Given the description of an element on the screen output the (x, y) to click on. 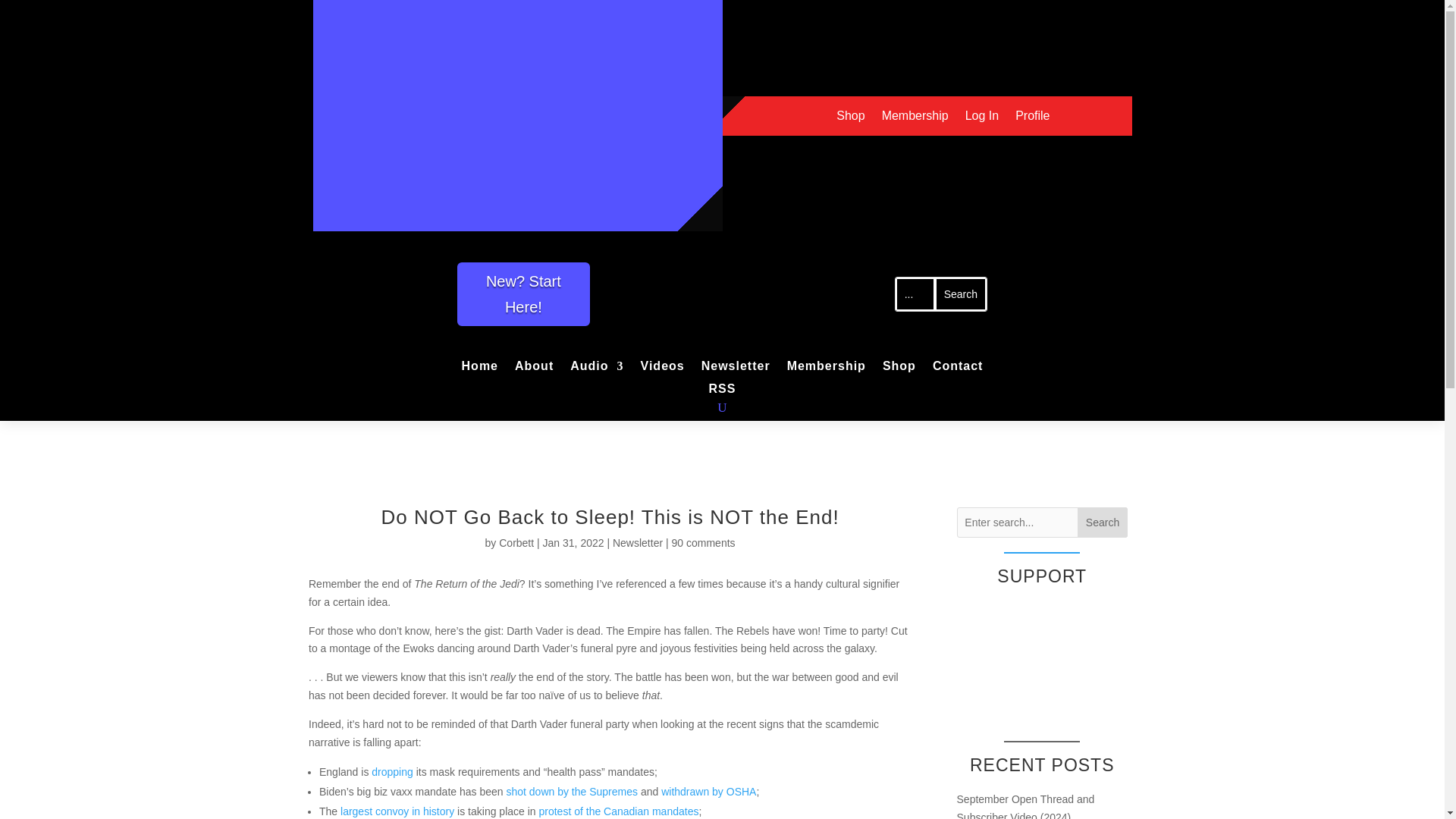
Search (960, 294)
Membership (915, 118)
Log In (981, 118)
Shop (898, 369)
Search (960, 294)
About (534, 369)
Profile (1031, 118)
Videos (662, 369)
Newsletter (735, 369)
Home (479, 369)
